Given the description of an element on the screen output the (x, y) to click on. 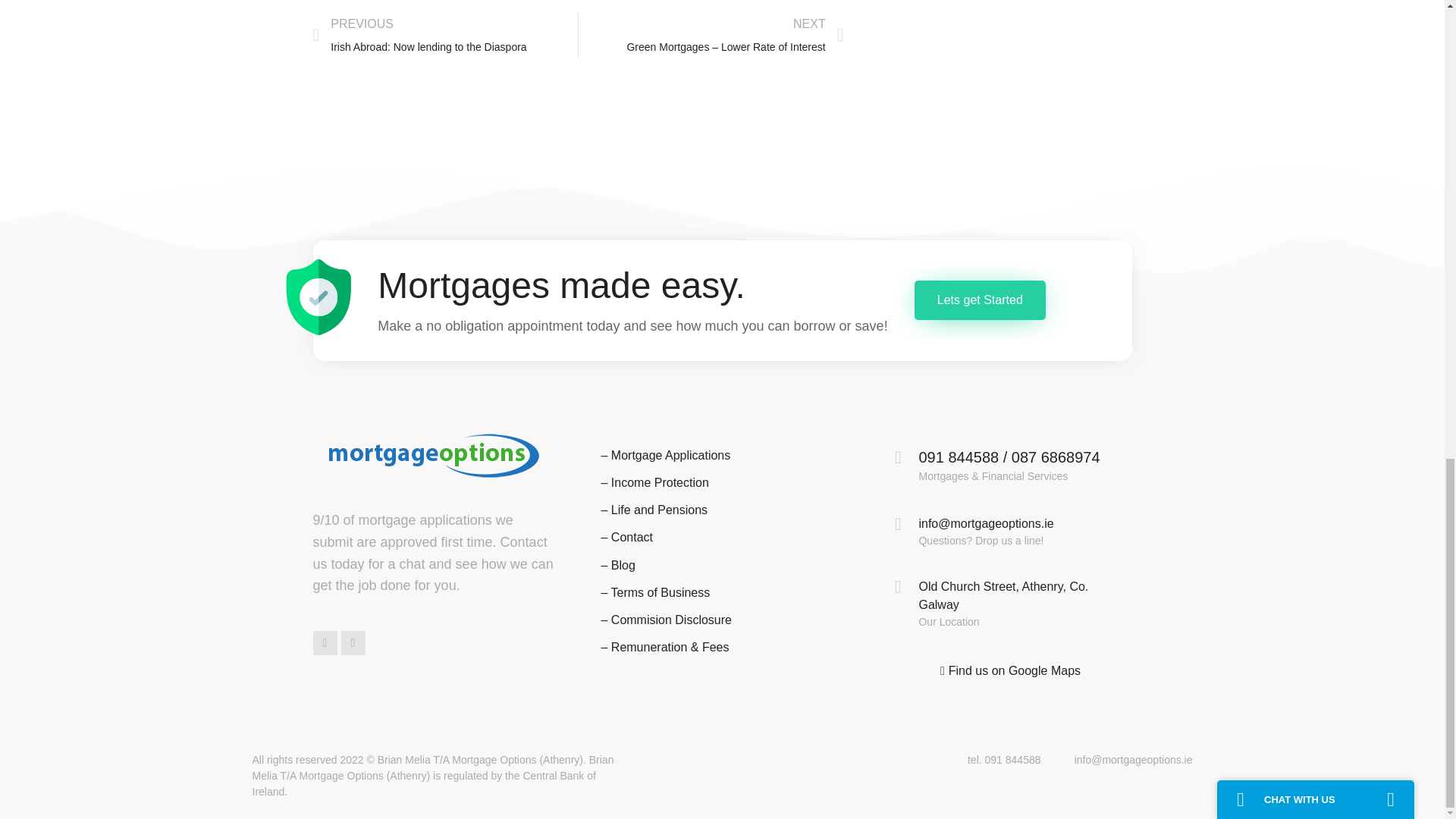
Lets get Started (444, 35)
